Given the description of an element on the screen output the (x, y) to click on. 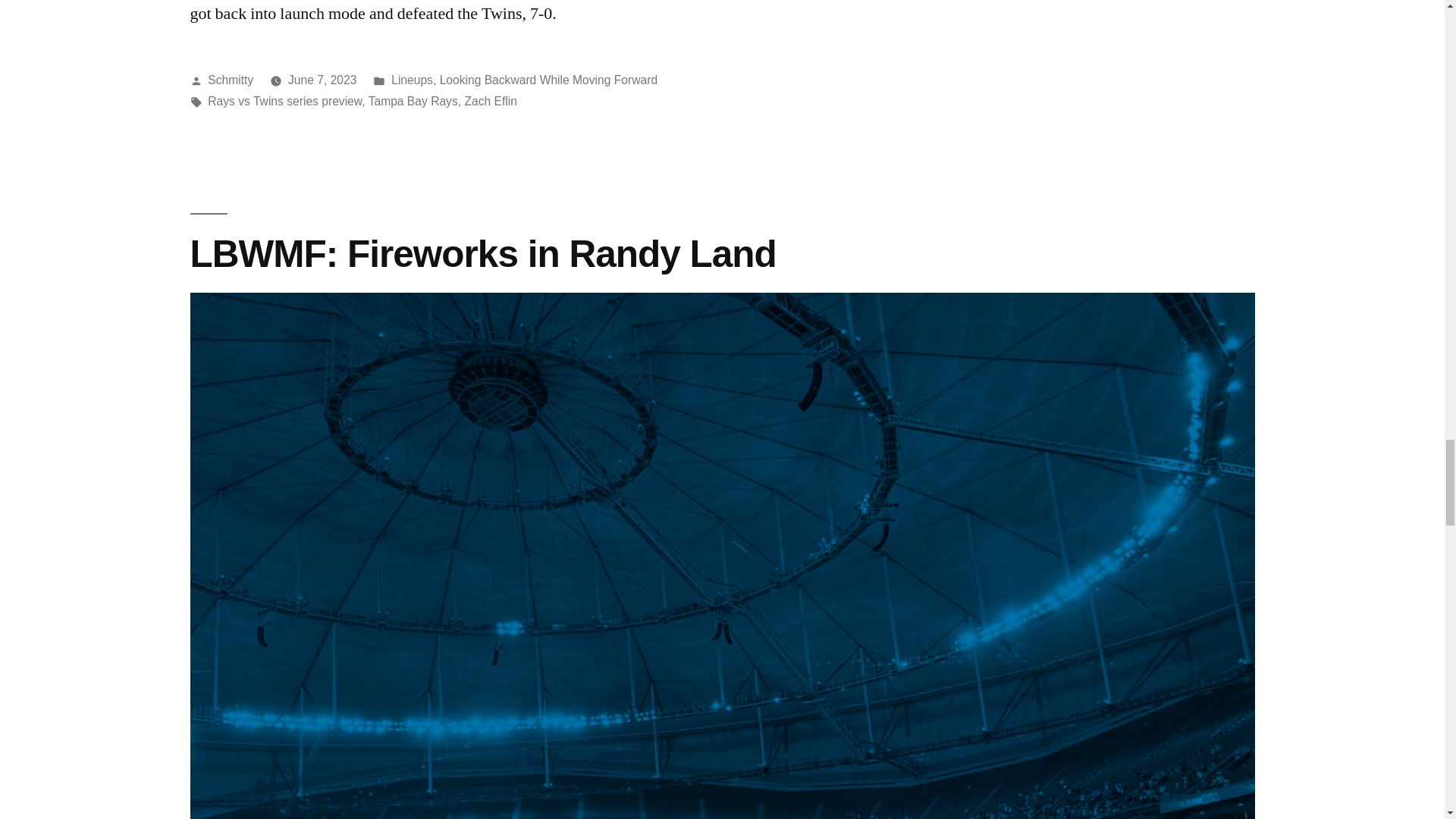
Zach Eflin (490, 101)
June 7, 2023 (322, 79)
Lineups (411, 79)
Tampa Bay Rays (413, 101)
Looking Backward While Moving Forward (548, 79)
Schmitty (230, 79)
Rays vs Twins series preview (284, 101)
LBWMF: Fireworks in Randy Land (482, 252)
